Given the description of an element on the screen output the (x, y) to click on. 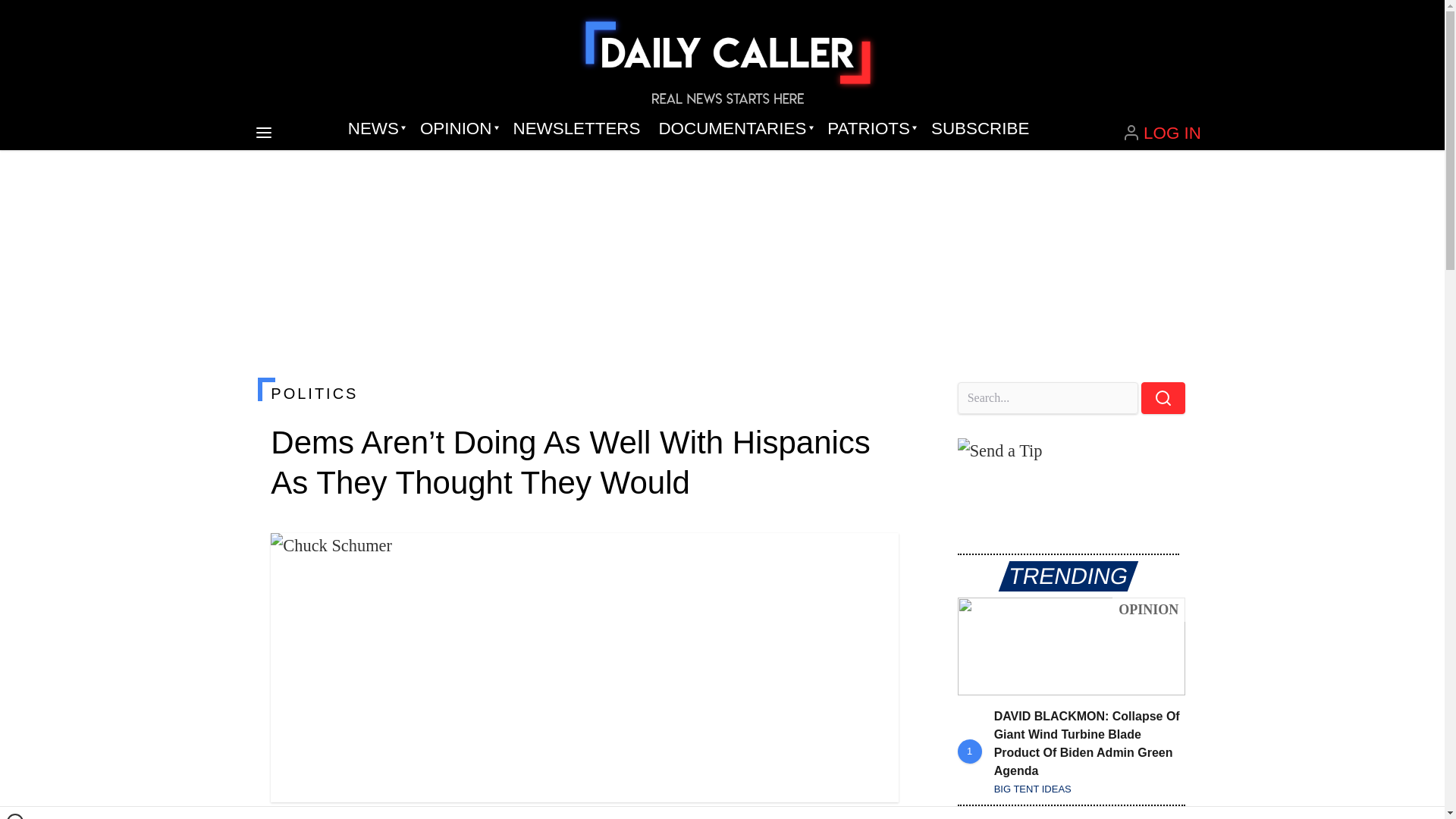
Close window (14, 816)
DOCUMENTARIES (733, 128)
NEWS (374, 128)
POLITICS (584, 393)
OPINION (456, 128)
NEWSLETTERS (576, 128)
PATRIOTS (869, 128)
Toggle fullscreen (874, 556)
SUBSCRIBE (979, 128)
